Given the description of an element on the screen output the (x, y) to click on. 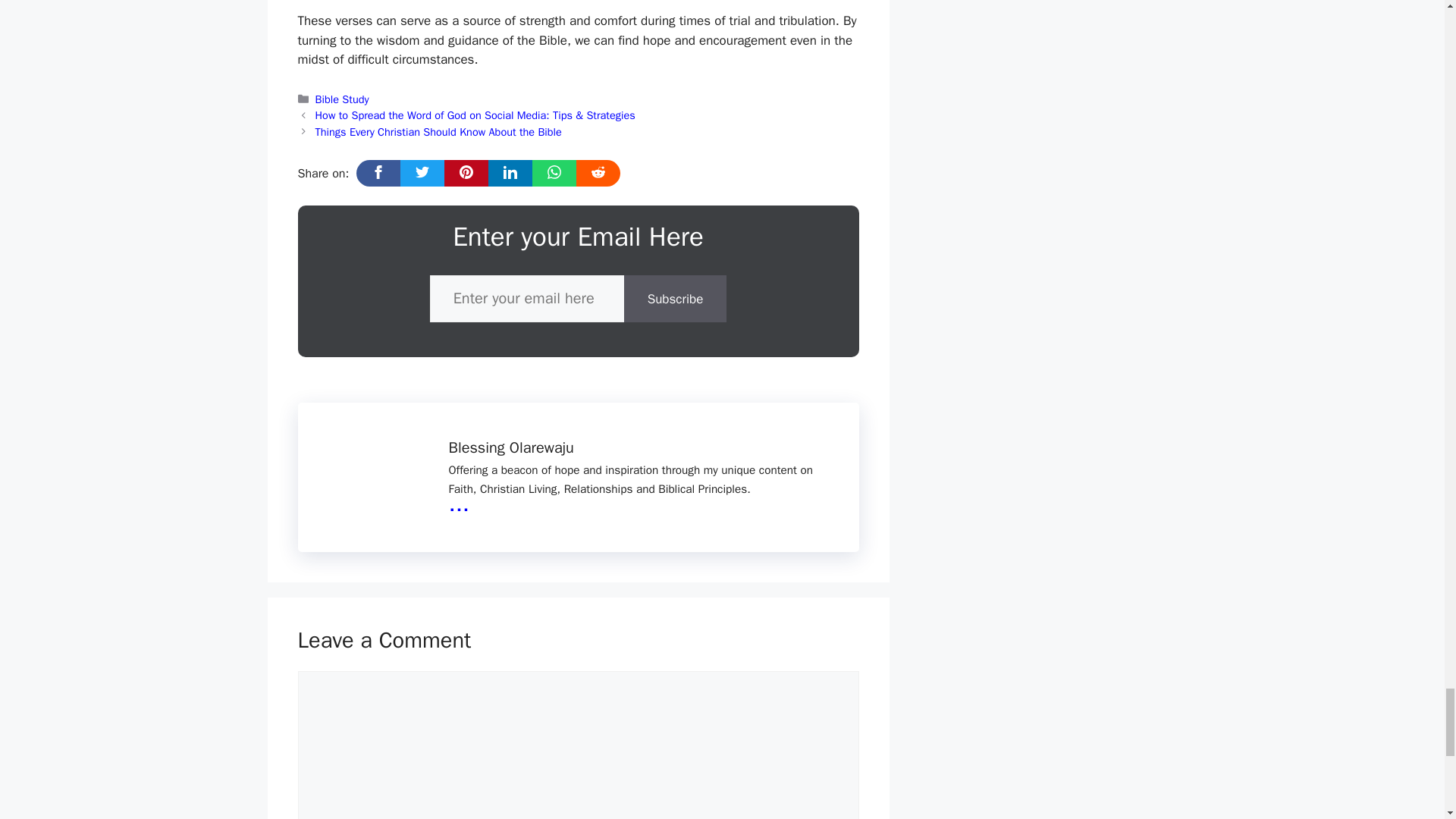
Subscribe (675, 298)
